Given the description of an element on the screen output the (x, y) to click on. 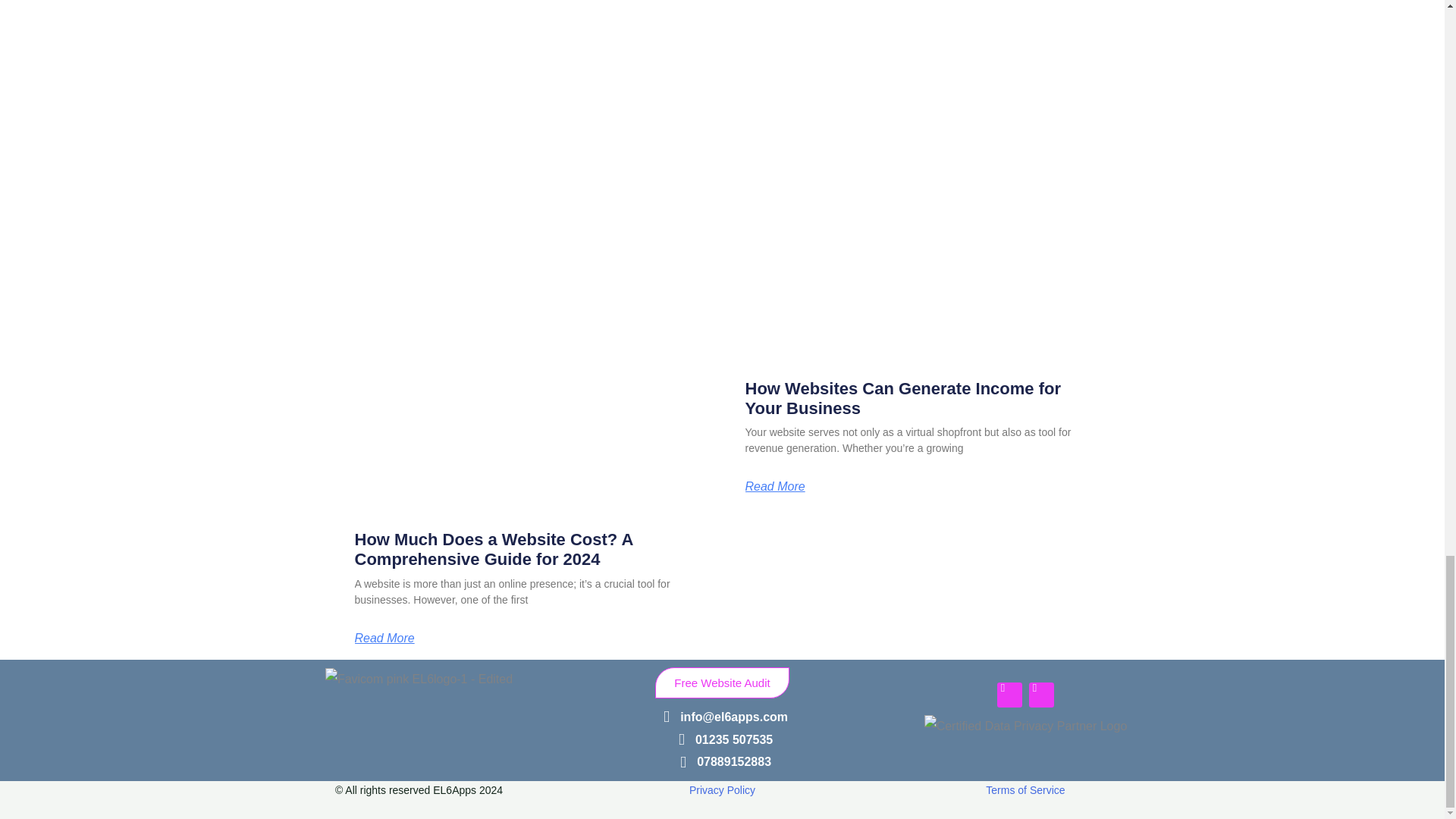
Privacy Policy (721, 789)
Free Website Audit (722, 682)
How Websites Can Generate Income for Your Business (901, 398)
Read More (774, 486)
data-privacy-certified-agency-partner (1025, 739)
Read More (384, 638)
Terms of Service (1024, 789)
How Much Does a Website Cost? A Comprehensive Guide for 2024 (494, 548)
